Given the description of an element on the screen output the (x, y) to click on. 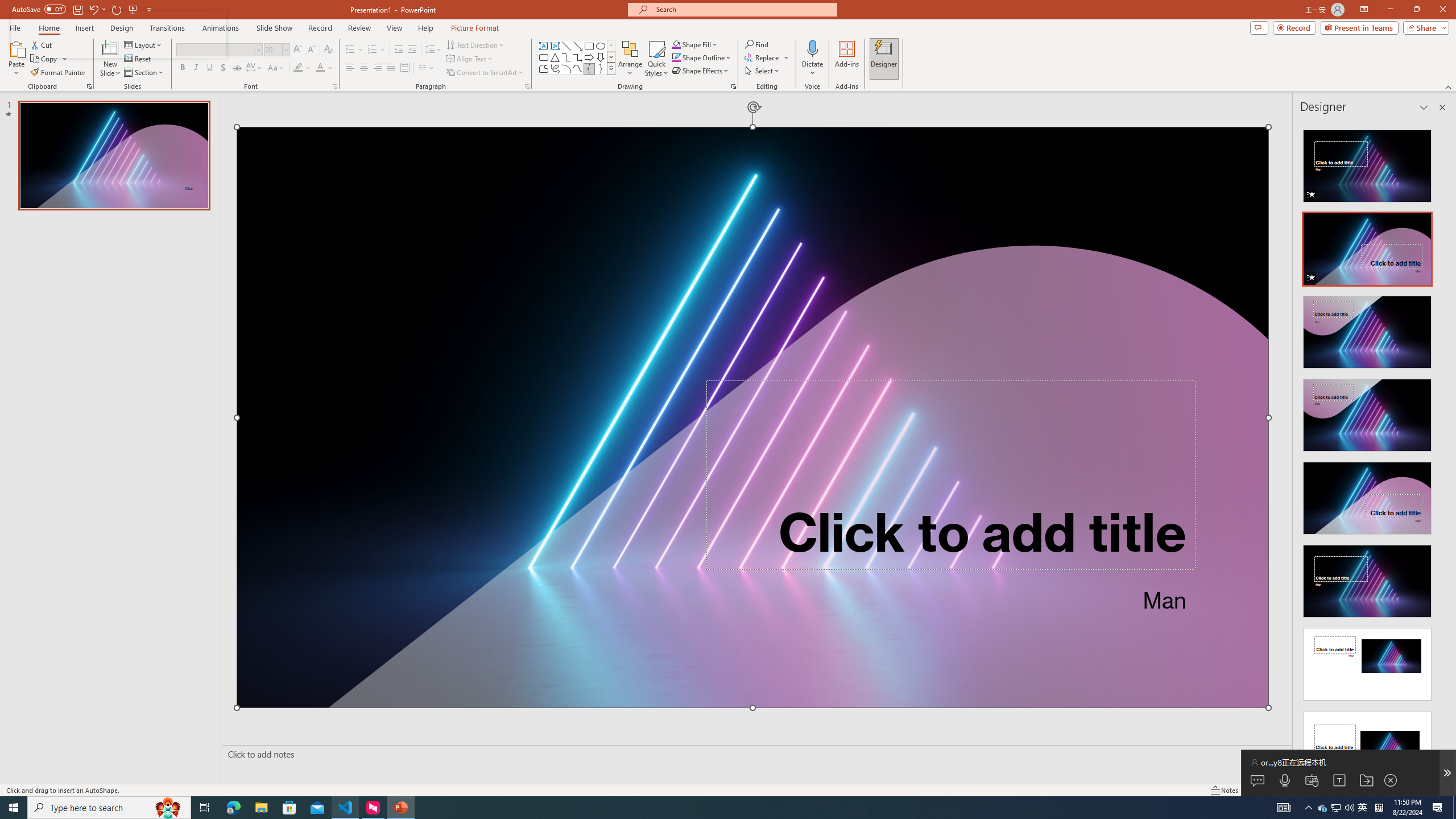
Reading View (1305, 790)
Designer (883, 58)
Class: NetUIScrollBar (1441, 447)
Replace... (762, 56)
View (395, 28)
Design Idea (1366, 743)
Shape Outline Blue, Accent 1 (675, 56)
Right Brace (600, 68)
Shadow (223, 67)
Text Direction (476, 44)
Bullets (349, 49)
Shape Fill (694, 44)
From Beginning (133, 9)
Convert to SmartArt (485, 72)
Review (359, 28)
